Given the description of an element on the screen output the (x, y) to click on. 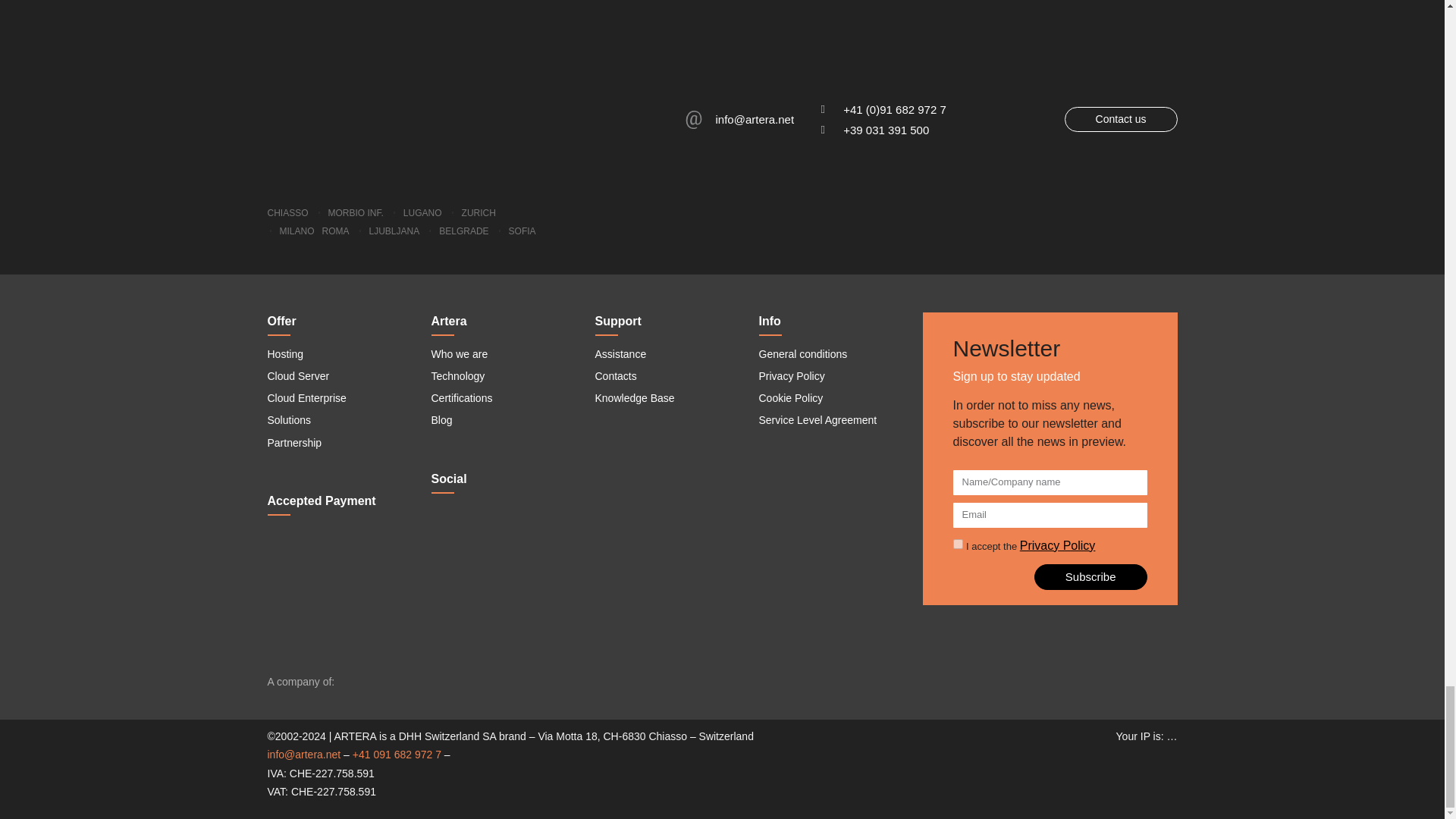
on (957, 543)
